Given the description of an element on the screen output the (x, y) to click on. 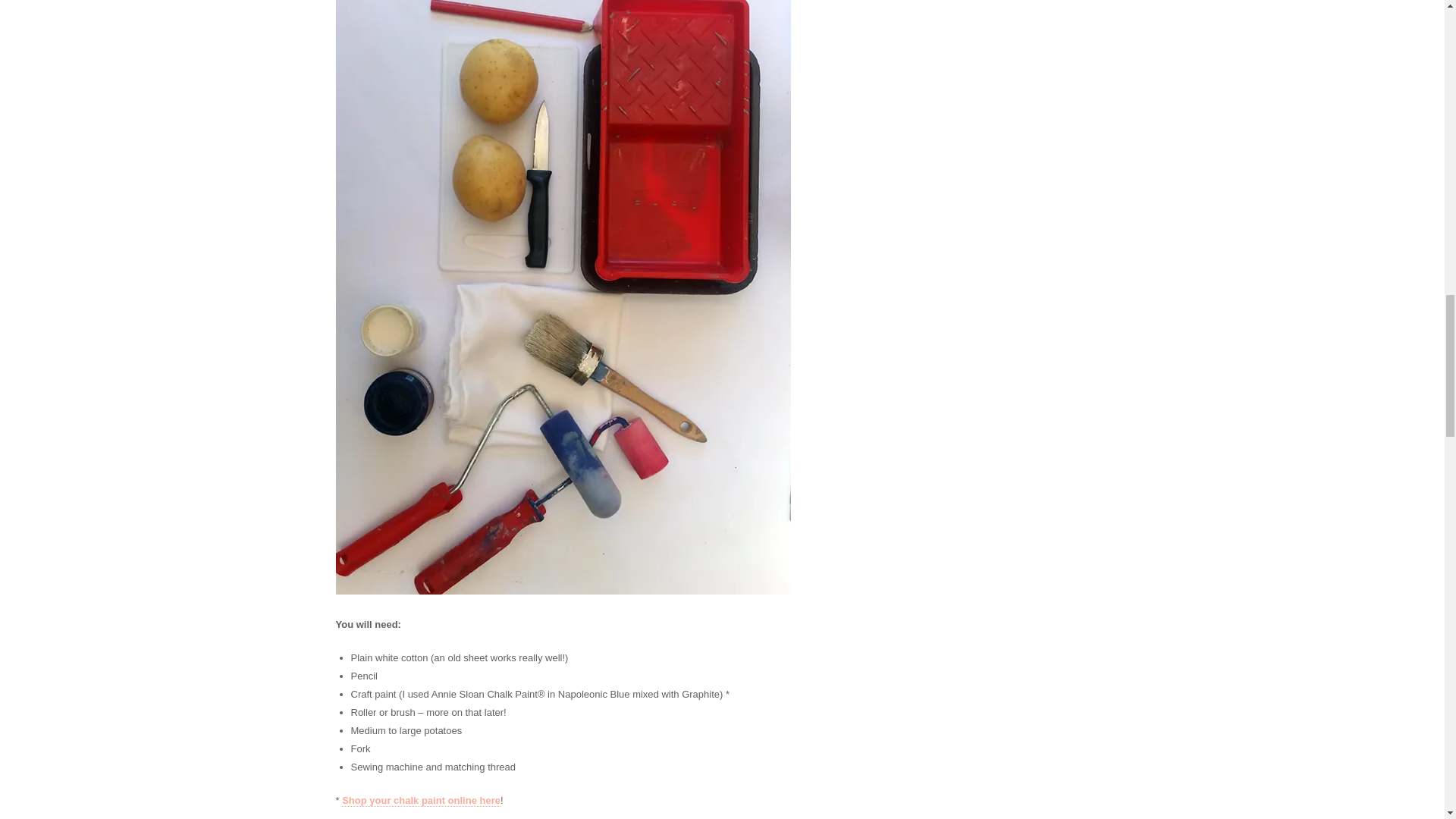
Shop your chalk paint online here (421, 800)
